Given the description of an element on the screen output the (x, y) to click on. 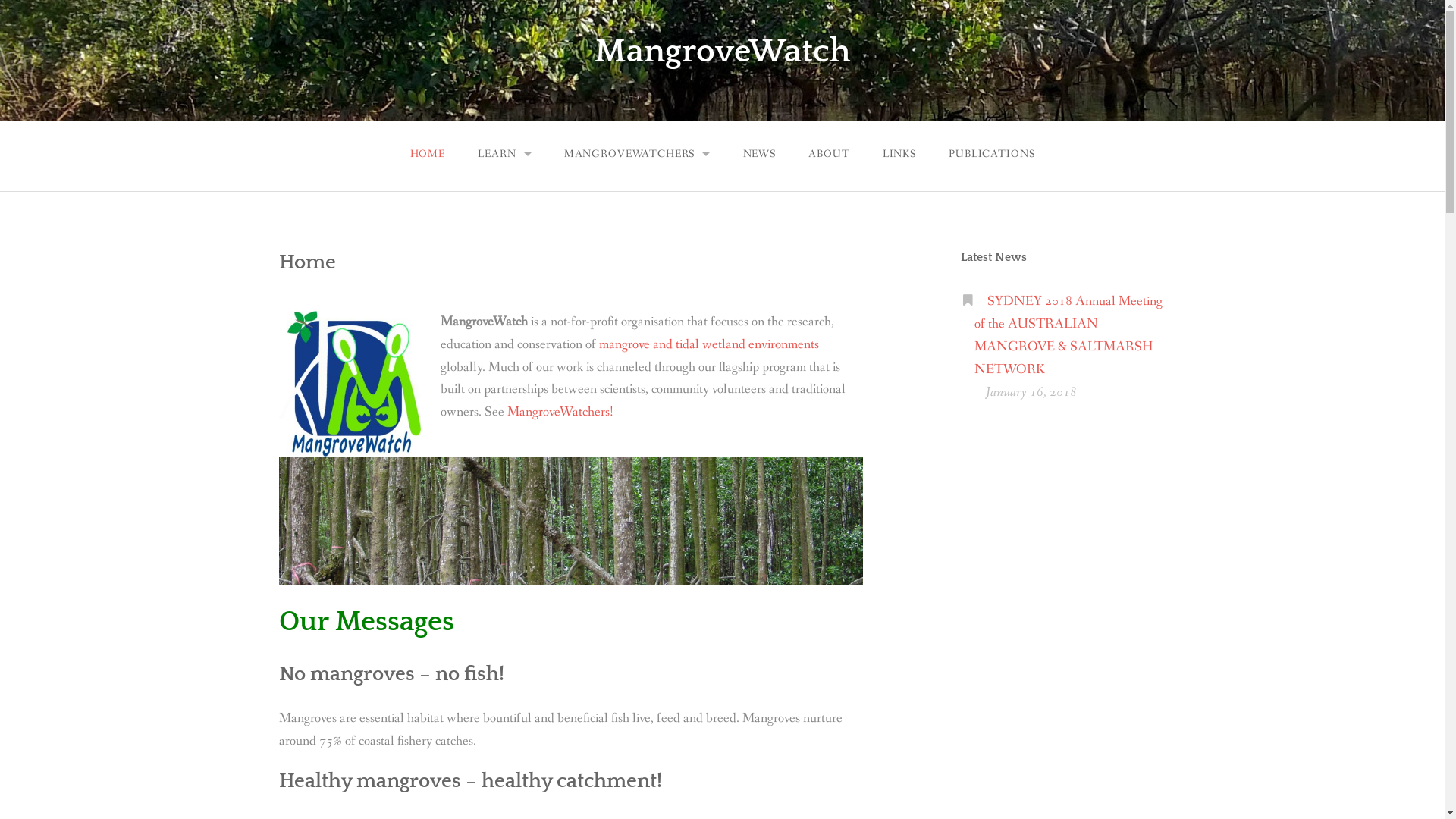
Skip to content Element type: text (0, 0)
AUSTRALIA Element type: text (636, 230)
GUIDE Element type: text (504, 196)
MangroveWatch Element type: text (722, 51)
UNITED STATES OF AMERICA Element type: text (459, 196)
LEARN Element type: text (504, 153)
NEWS Element type: text (759, 153)
mangrove and tidal wetland environments Element type: text (709, 344)
LINKS Element type: text (899, 153)
QUEENSLAND Element type: text (459, 231)
MangroveWatchers! Element type: text (560, 411)
WORLDWIDE Element type: text (636, 196)
PUBLICATIONS Element type: text (991, 153)
YOUR COUNTRY Element type: text (459, 230)
ABOUT Element type: text (829, 153)
MANGROVEWATCHERS Element type: text (636, 153)
HOME Element type: text (427, 153)
